Given the description of an element on the screen output the (x, y) to click on. 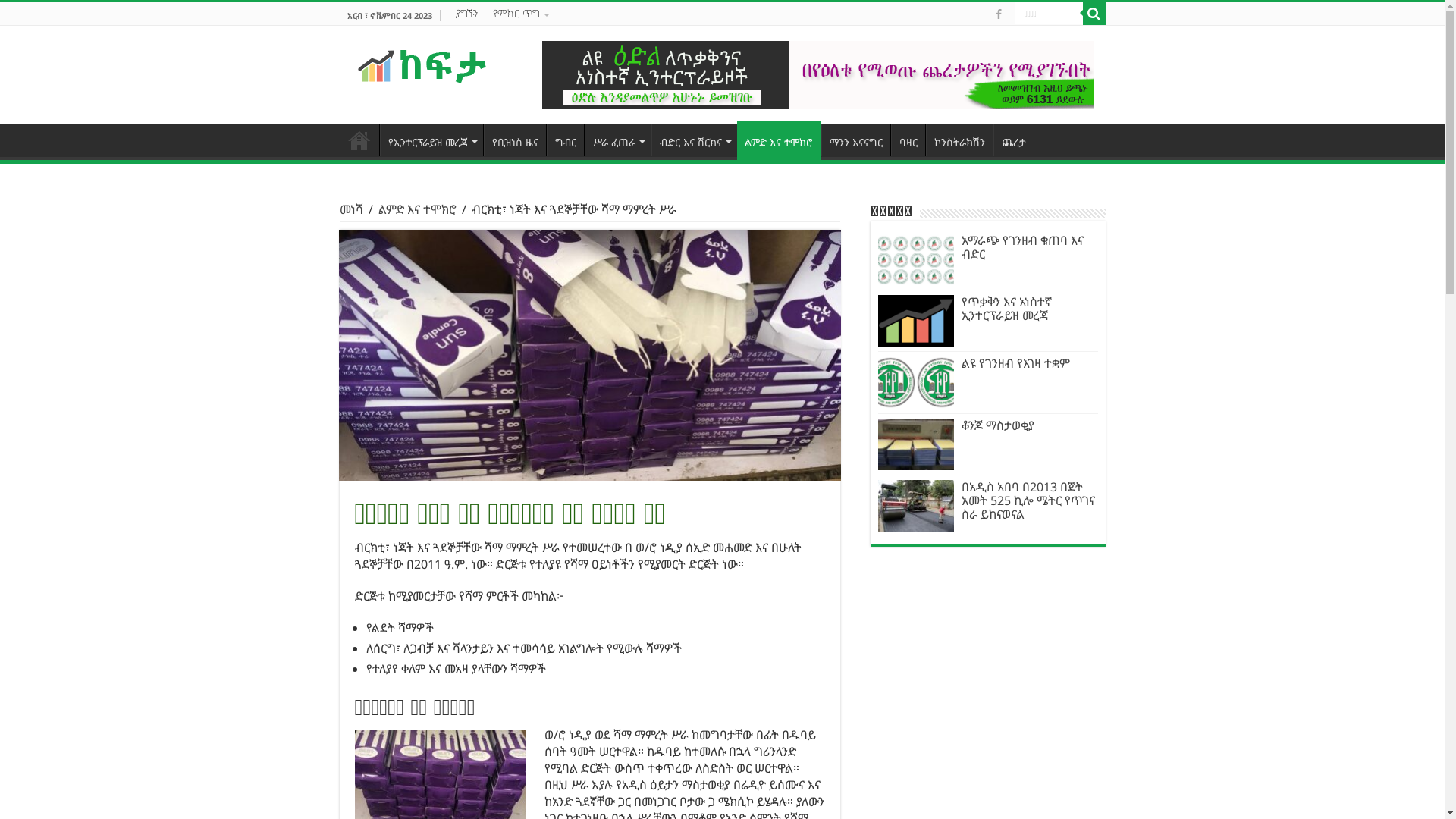
Home Element type: text (359, 140)
Facebook Element type: hover (997, 14)
Kefta Element type: hover (422, 65)
